Given the description of an element on the screen output the (x, y) to click on. 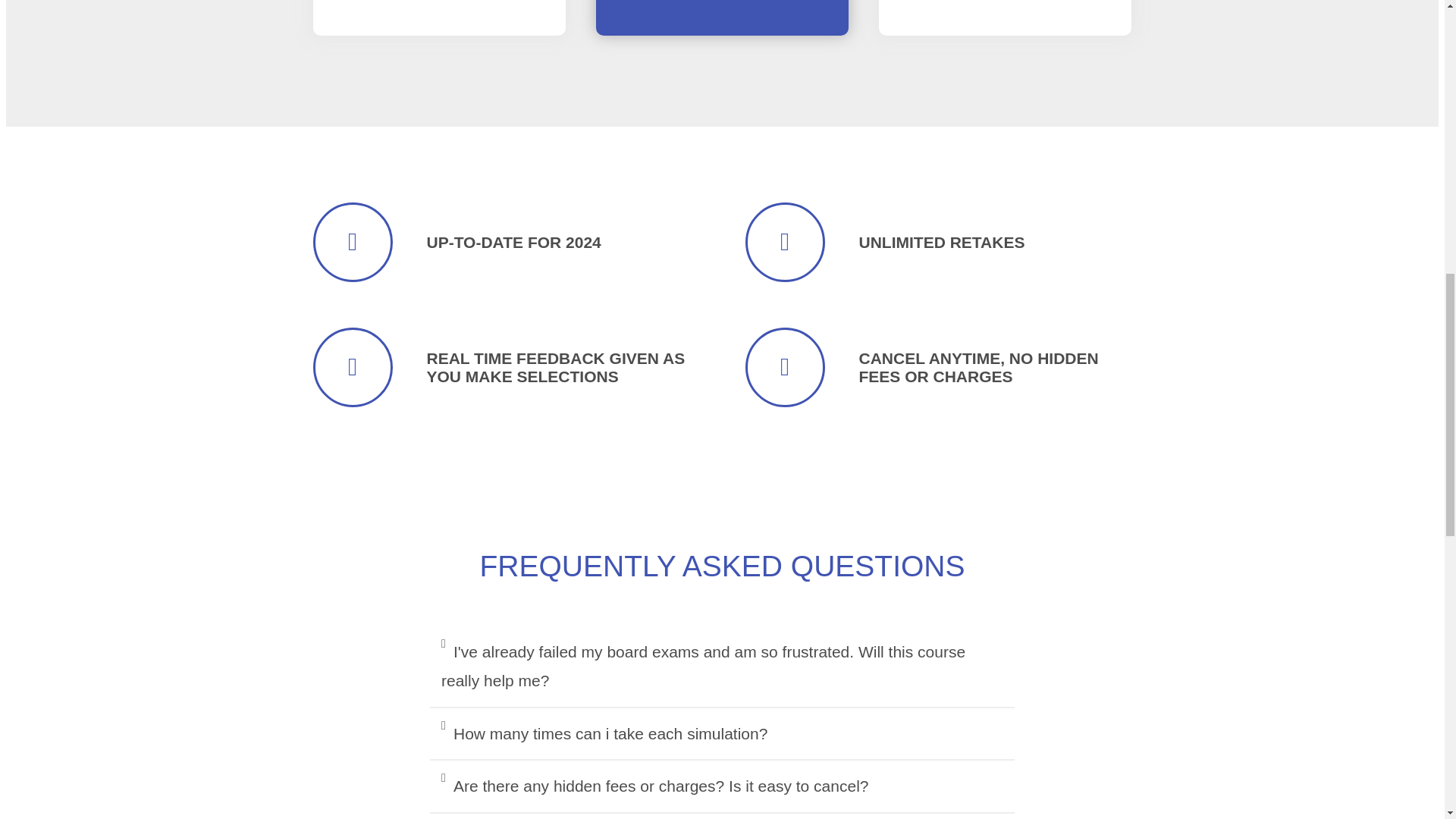
How many times can i take each simulation? (609, 733)
Are there any hidden fees or charges? Is it easy to cancel? (660, 785)
